Given the description of an element on the screen output the (x, y) to click on. 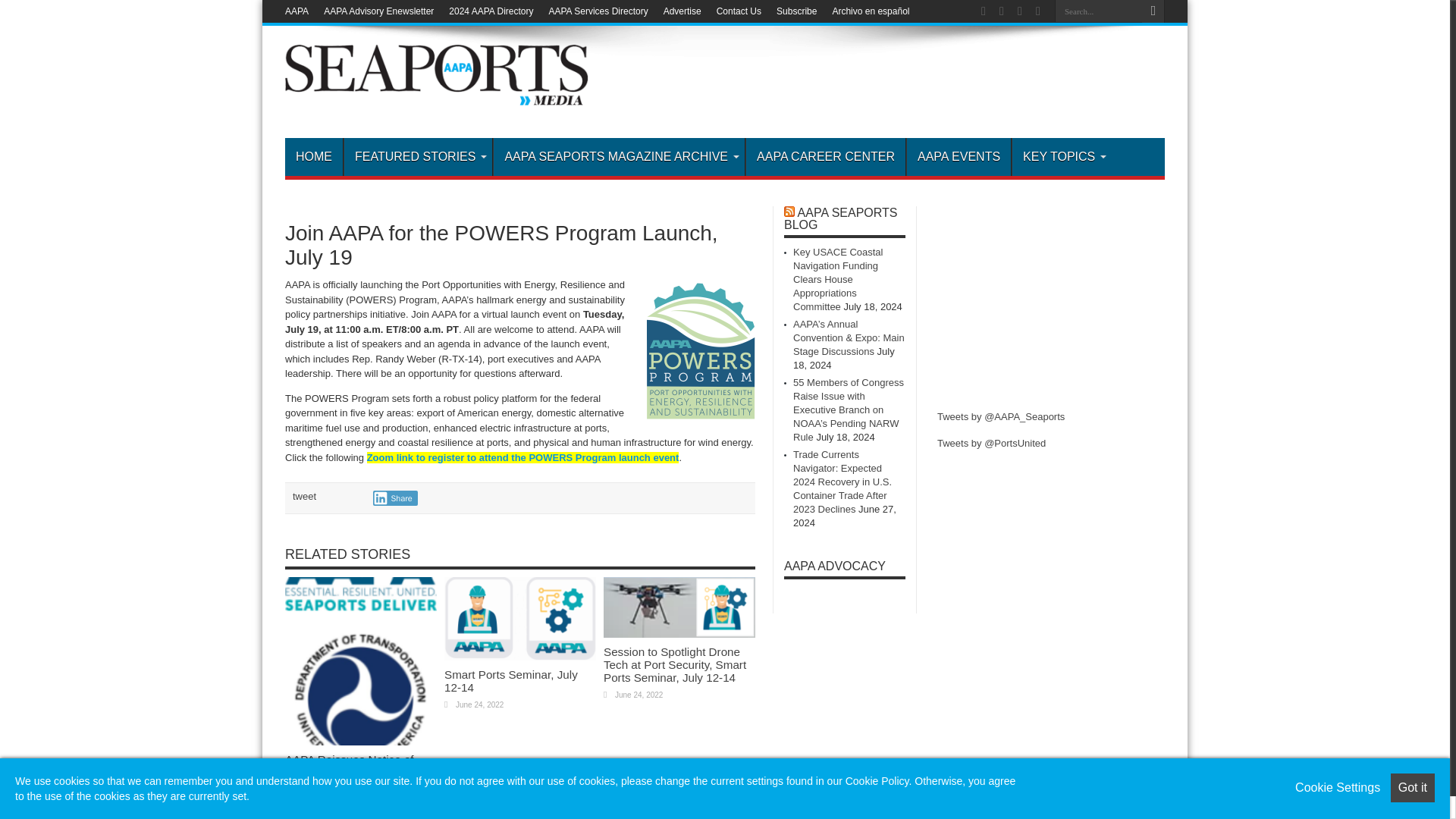
2024 AAPA Directory (490, 11)
AAPA (296, 11)
Advertise (682, 11)
AAPA Seaports (436, 94)
Search... (1097, 11)
Permalink to Smart Ports Seminar, July 12-14 (511, 680)
Permalink to Smart Ports Seminar, July 12-14 (519, 656)
KEY TOPICS (1061, 157)
AAPA SEAPORTS MAGAZINE ARCHIVE (618, 157)
AAPA CAREER CENTER (825, 157)
3rd party ad content (1050, 300)
Subscribe (796, 11)
FEATURED STORIES (417, 157)
